Given the description of an element on the screen output the (x, y) to click on. 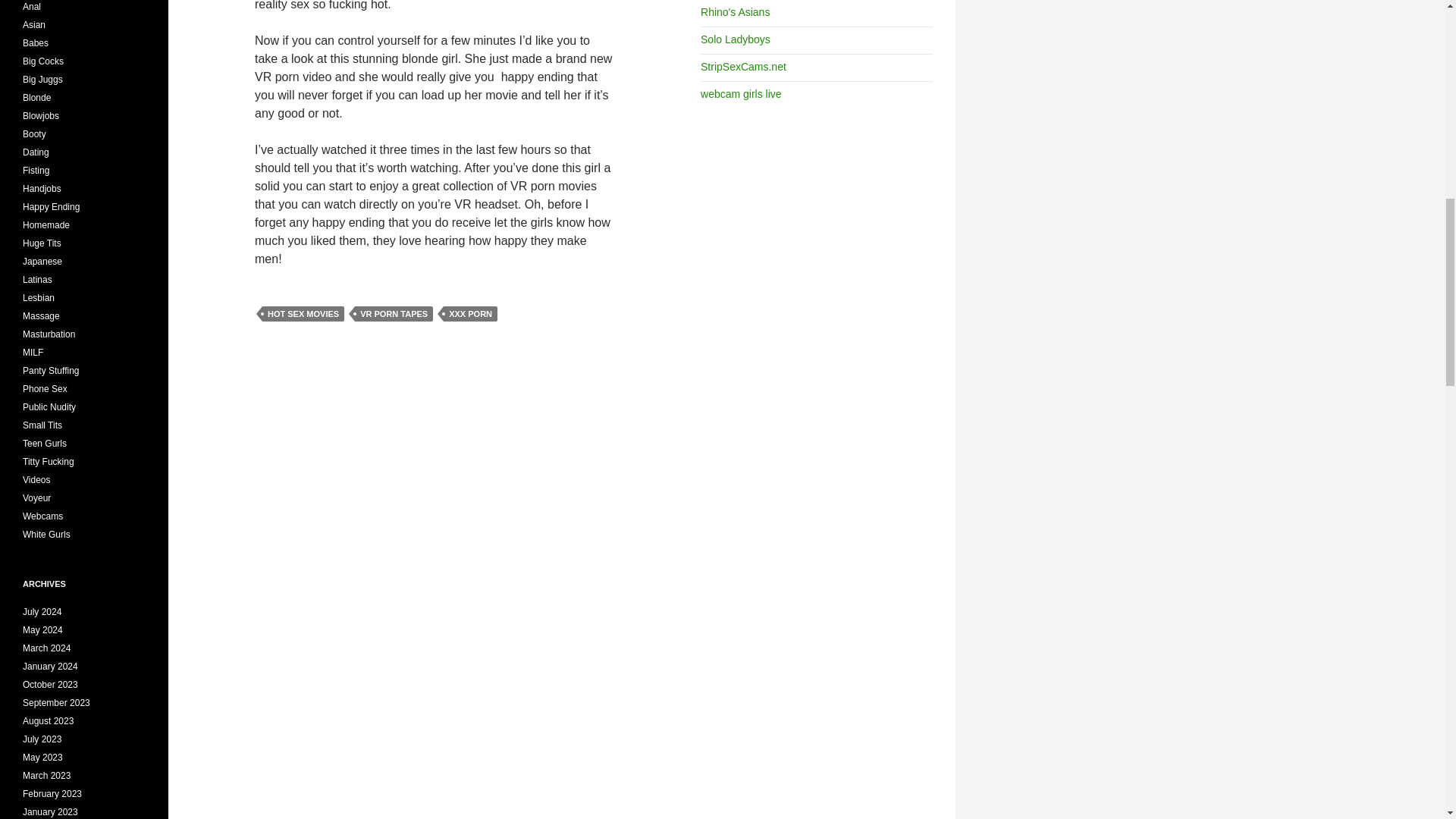
webcam girls live (740, 93)
